Given the description of an element on the screen output the (x, y) to click on. 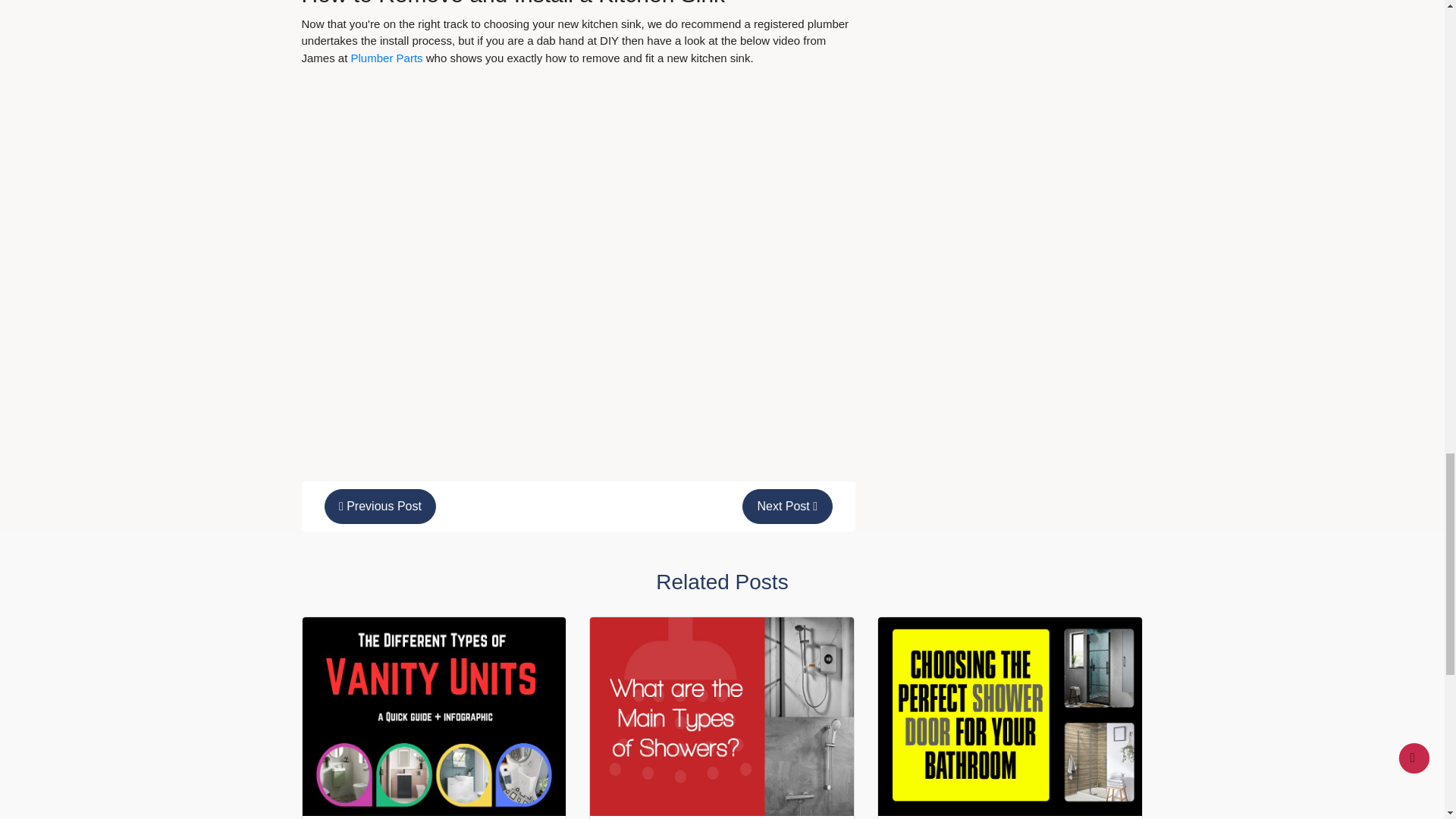
Plumber Parts (388, 57)
Next Post (786, 506)
Previous Post (380, 506)
